Given the description of an element on the screen output the (x, y) to click on. 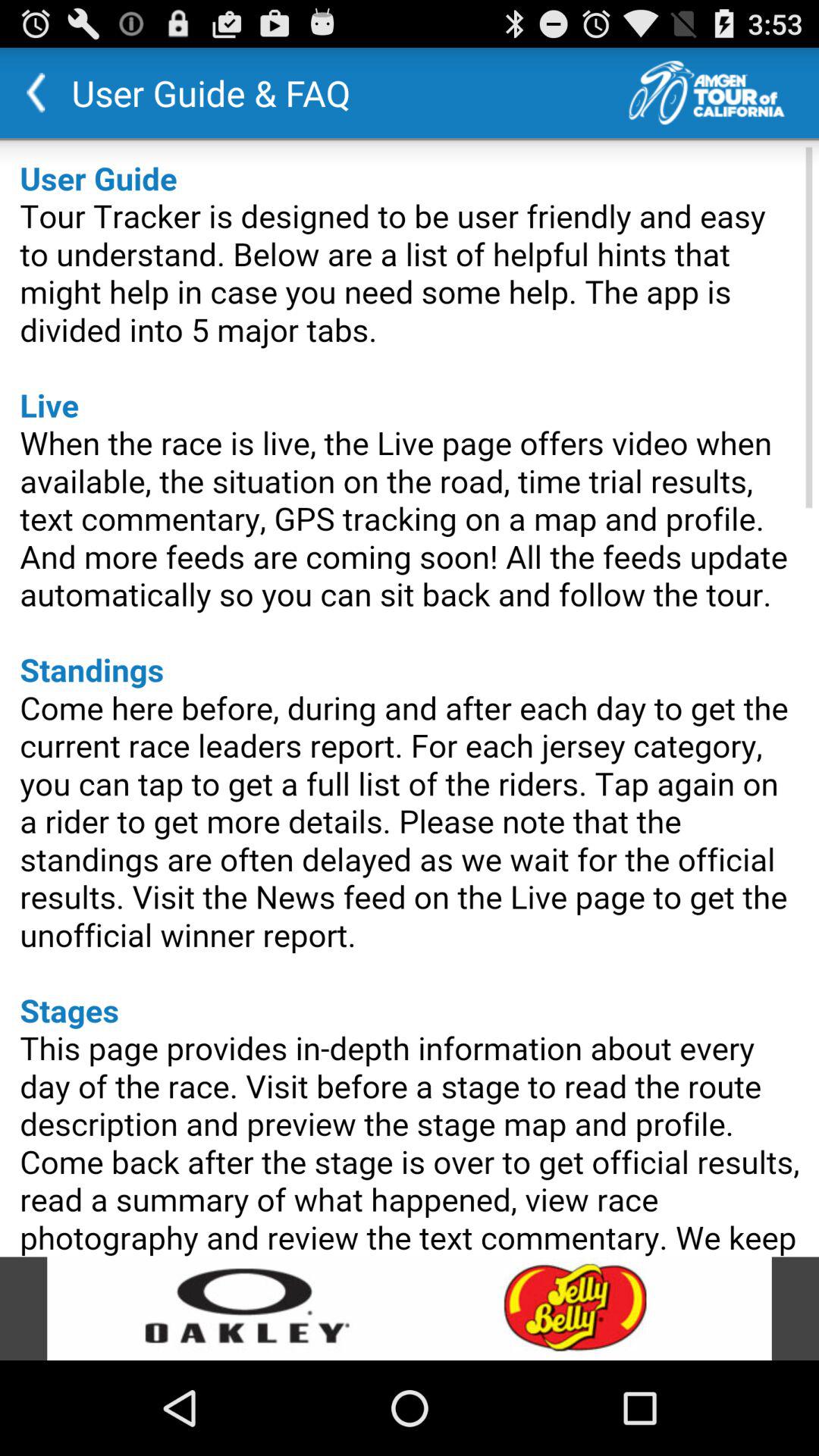
go to advertisement 's webpage (409, 1308)
